Given the description of an element on the screen output the (x, y) to click on. 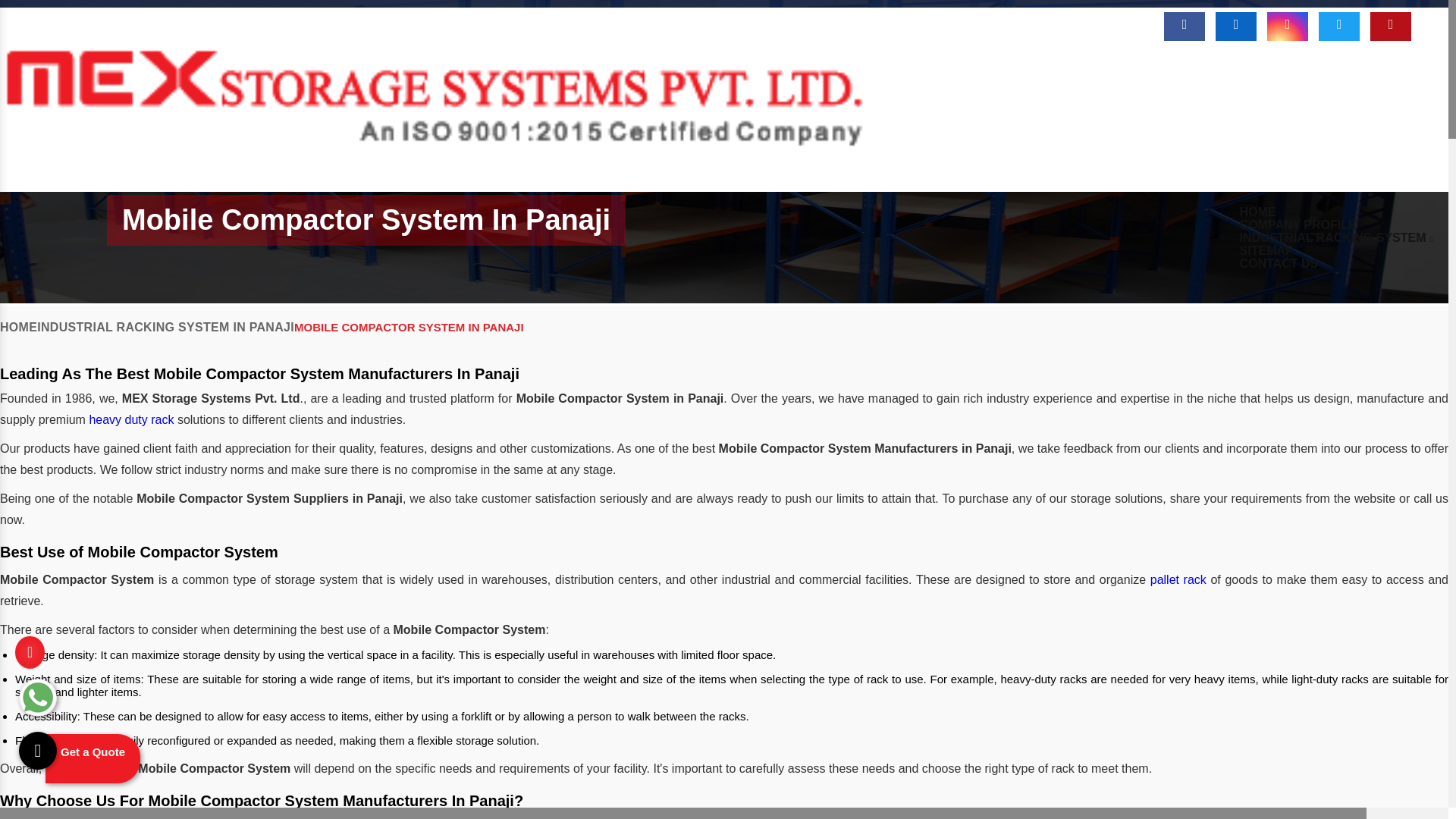
HOME (1257, 211)
Industrial Racking System In Panaji (1336, 237)
Home (1257, 211)
Company Profile (1297, 224)
Enquiry Now (972, 20)
Youtube (1390, 26)
8882808808 (1075, 21)
Twitter (1339, 26)
Instagram (1286, 26)
COMPANY PROFILE (1297, 224)
Facebook (1184, 26)
INDUSTRIAL RACKING SYSTEM (1336, 237)
MEX Storage Systems Pvt. Ltd. (434, 184)
Enquiry Now (972, 20)
